Given the description of an element on the screen output the (x, y) to click on. 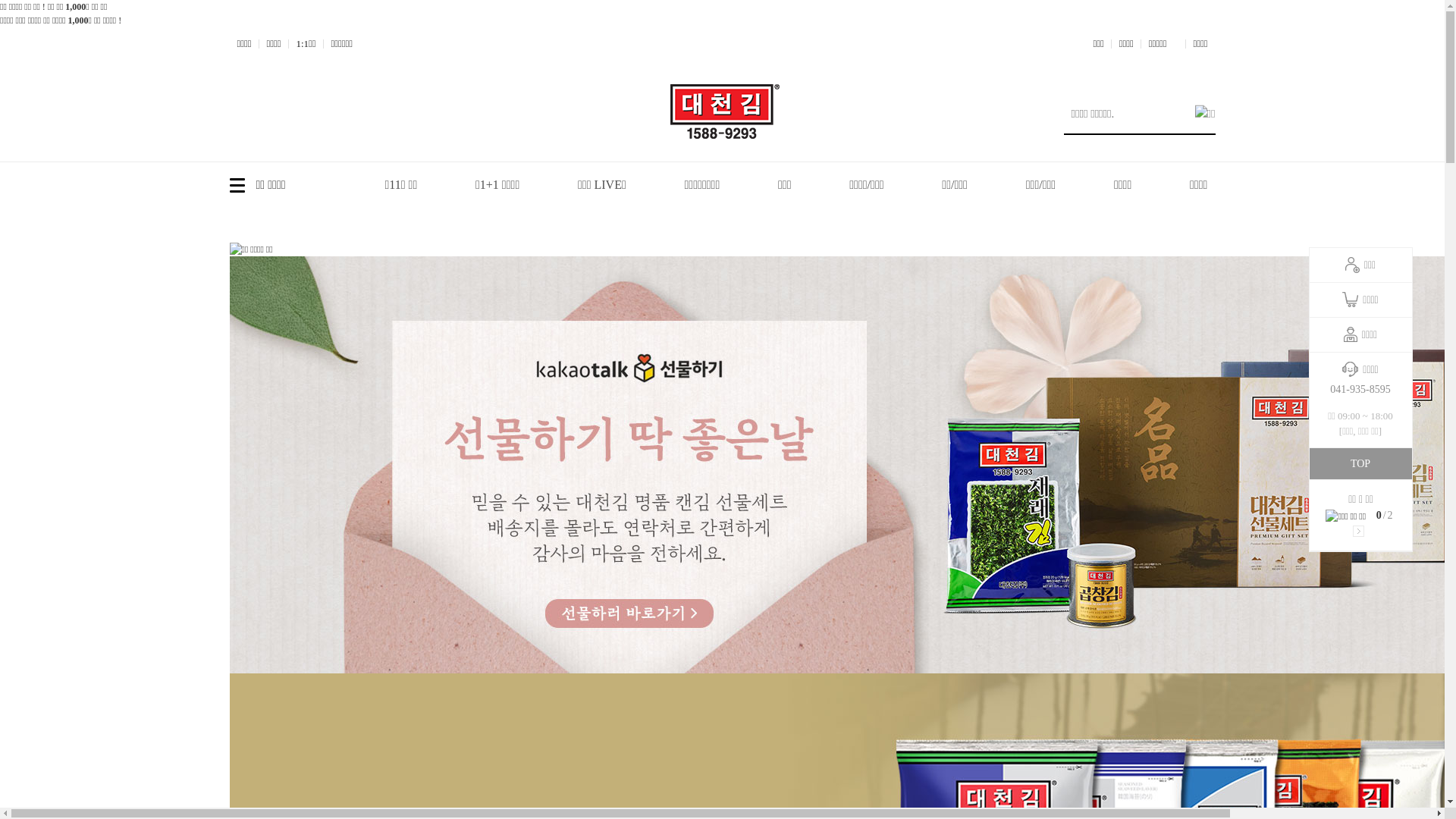
TOP Element type: text (1359, 463)
